Given the description of an element on the screen output the (x, y) to click on. 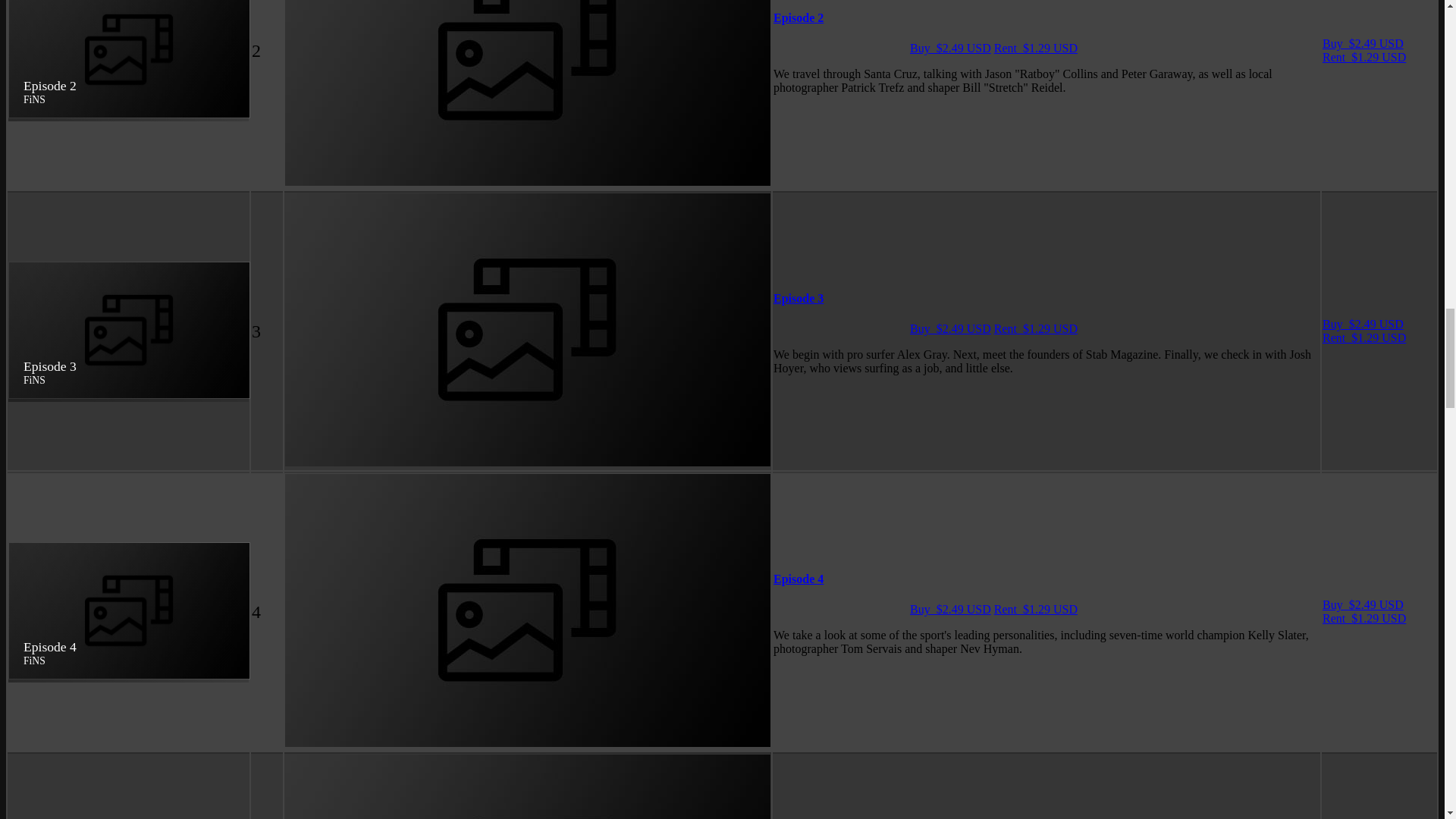
Episode  4 (798, 578)
Episode  2 (798, 17)
Episode  3 (798, 297)
